Given the description of an element on the screen output the (x, y) to click on. 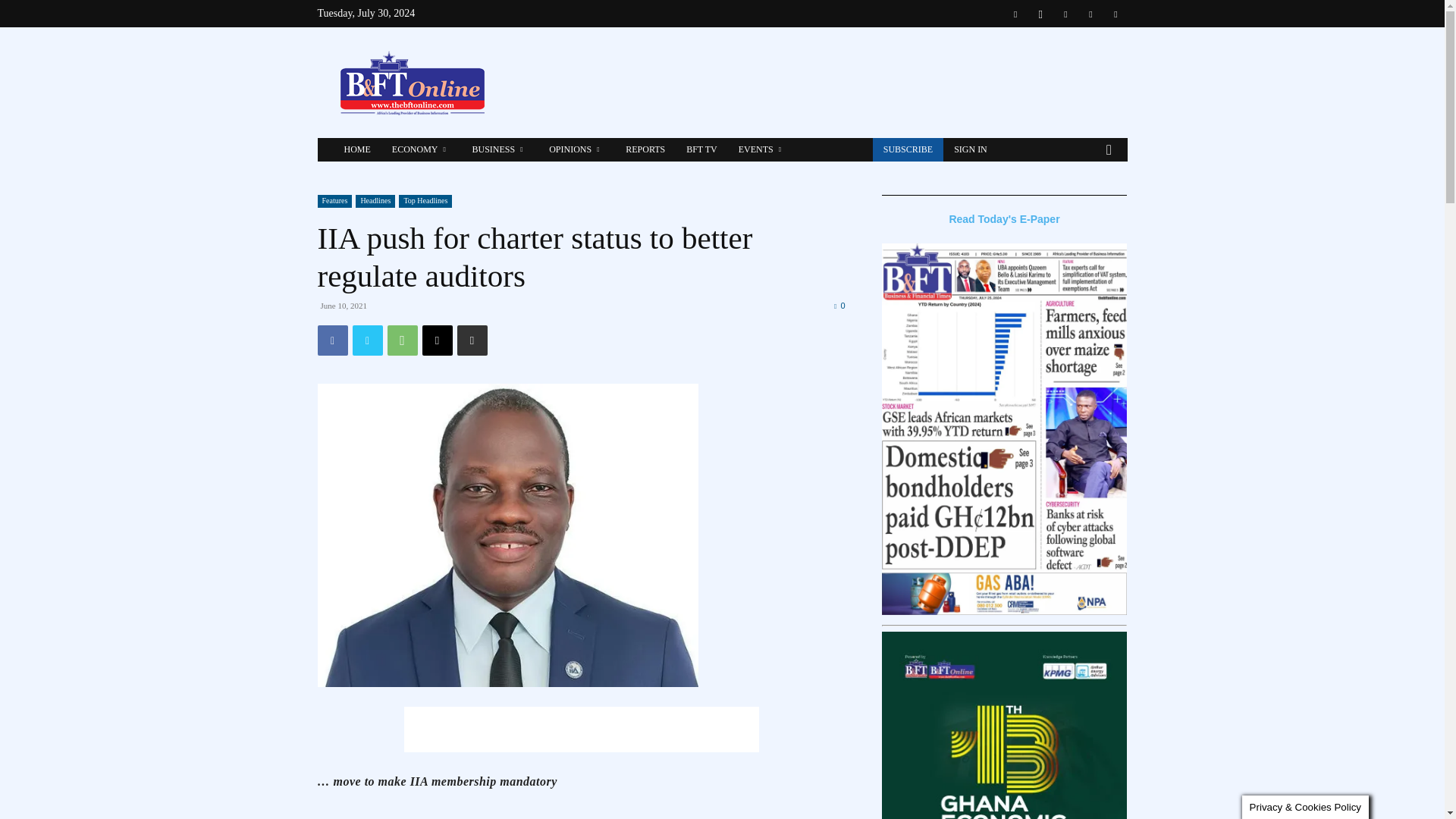
Facebook (332, 340)
